Given the description of an element on the screen output the (x, y) to click on. 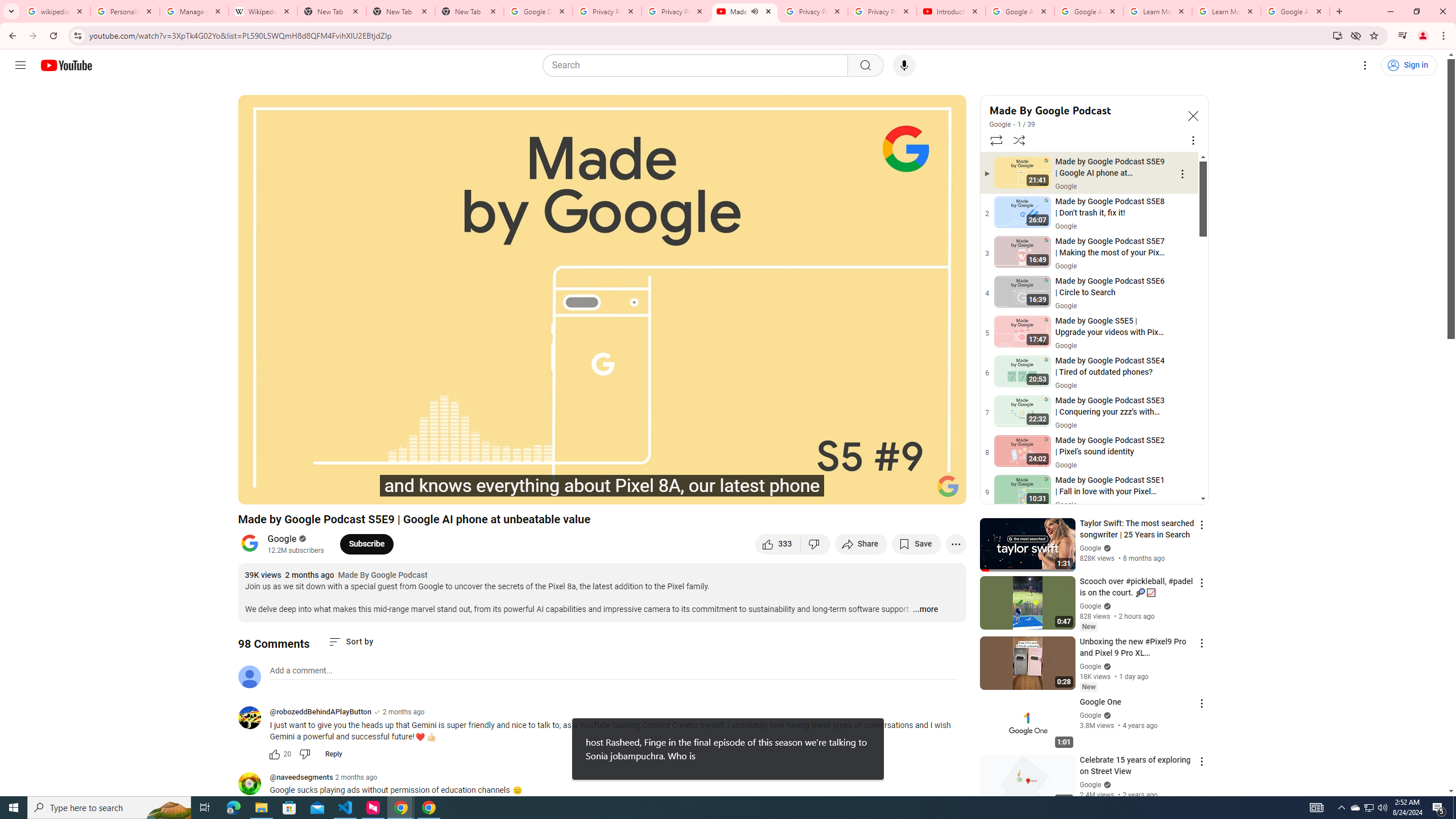
@robozeddBehindAPlayButton (320, 711)
Shuffle playlist (1018, 140)
Google Drive: Sign-in (538, 11)
Next (SHIFT+n) (310, 490)
YouTube Home (66, 65)
